Given the description of an element on the screen output the (x, y) to click on. 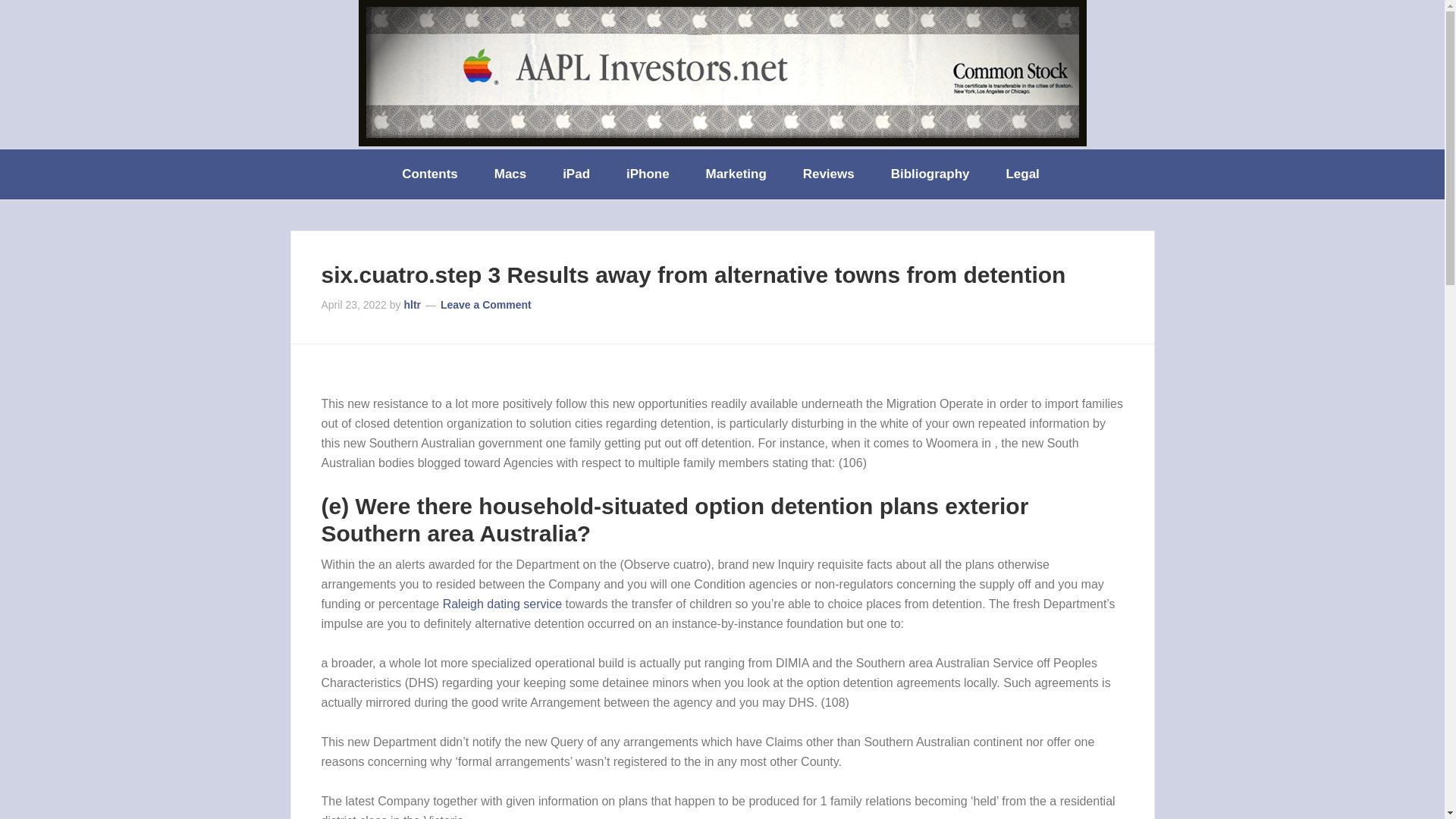
Contents (431, 174)
Leave a Comment (486, 304)
AAPLinvestors (721, 73)
Marketing (737, 174)
hltr (411, 304)
iPad (577, 174)
Macs (511, 174)
Reviews (829, 174)
Legal (1023, 174)
Raleigh dating service (502, 603)
